Given the description of an element on the screen output the (x, y) to click on. 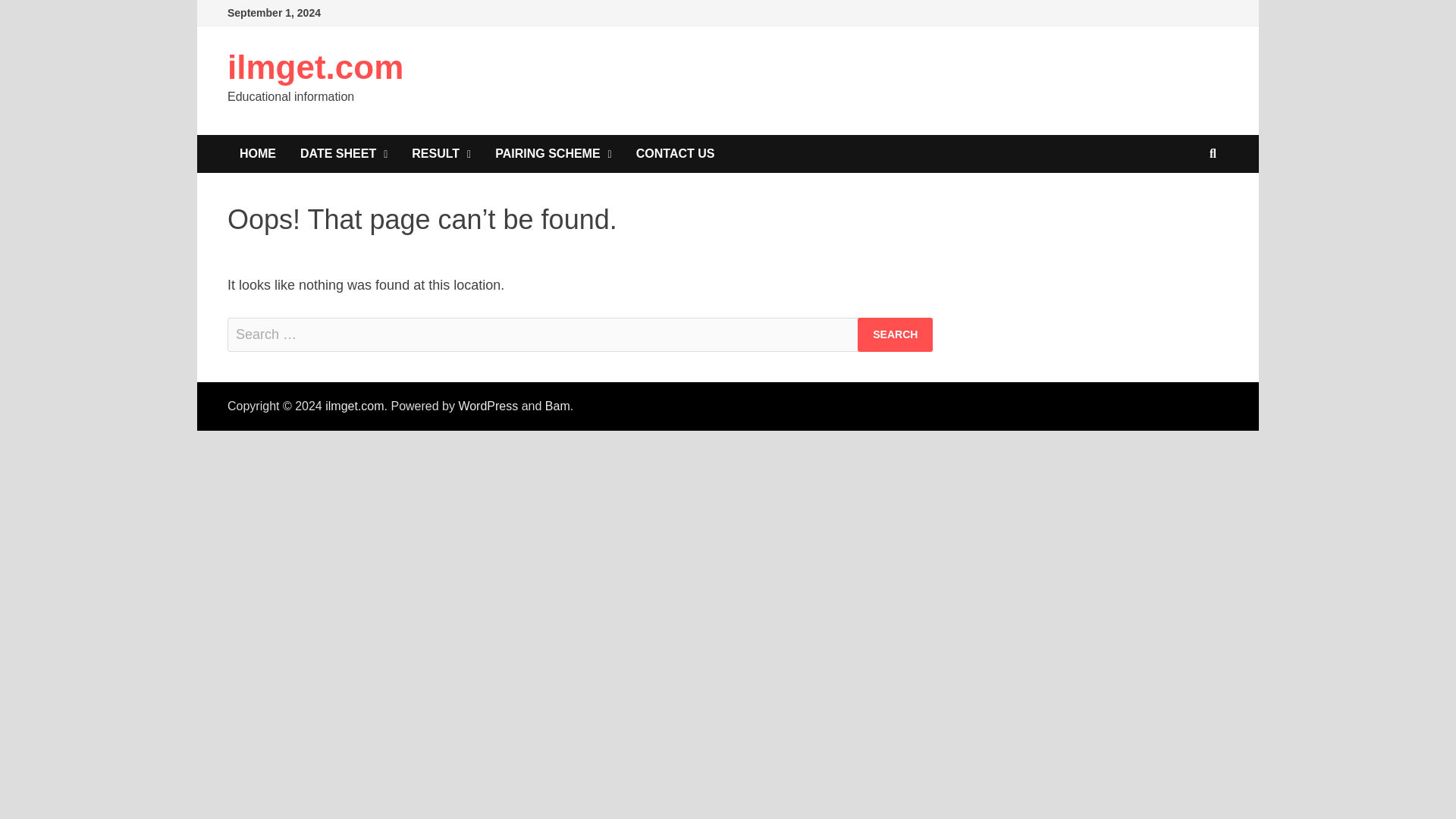
HOME (257, 153)
DATE SHEET (343, 153)
RESULT (440, 153)
PAIRING SCHEME (553, 153)
Search (895, 334)
Search (895, 334)
ilmget.com (315, 66)
CONTACT US (675, 153)
Search (895, 334)
ilmget.com (354, 405)
